Given the description of an element on the screen output the (x, y) to click on. 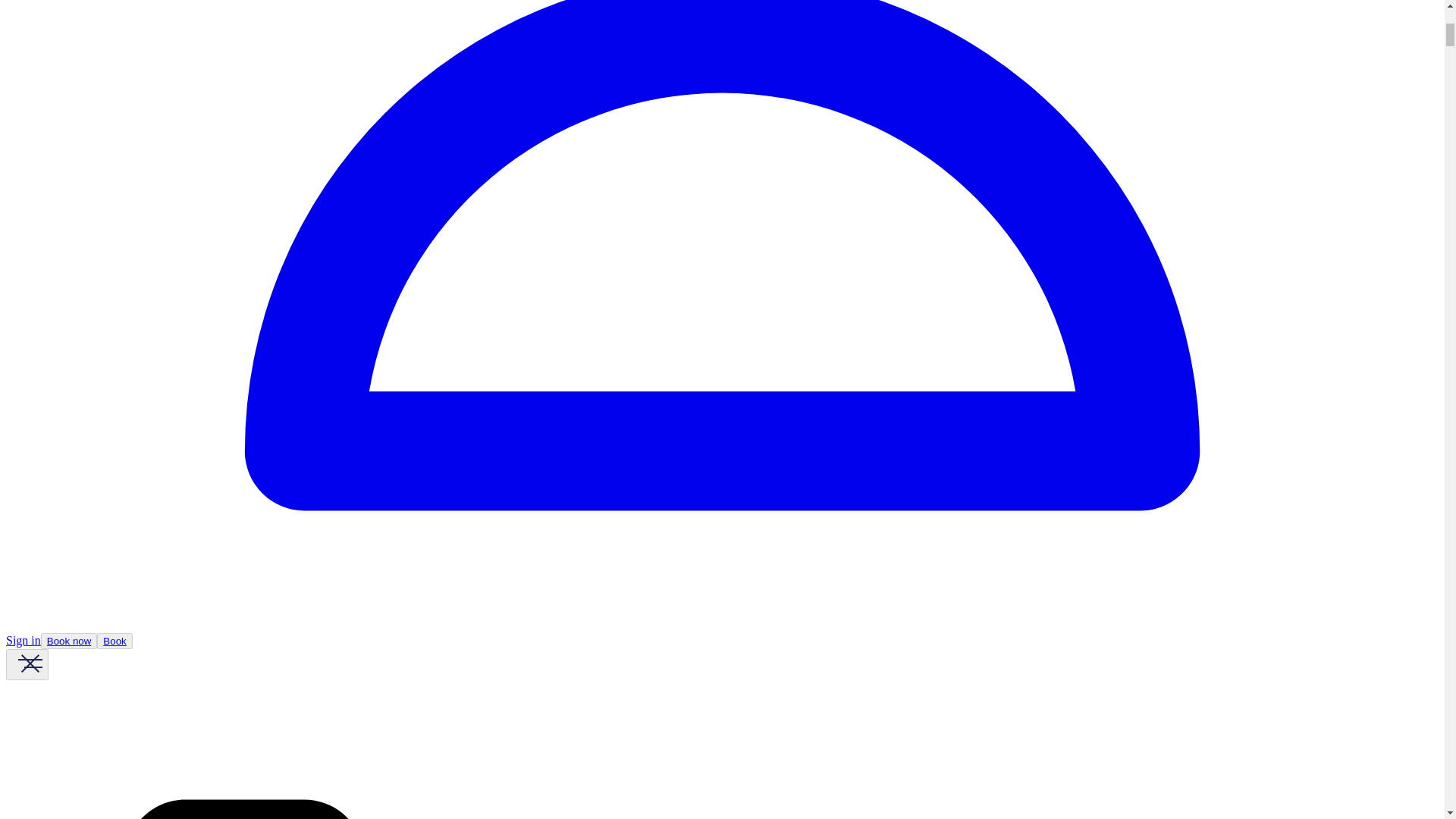
Book (114, 641)
Book now (68, 641)
Book now (68, 641)
Book (114, 641)
